Given the description of an element on the screen output the (x, y) to click on. 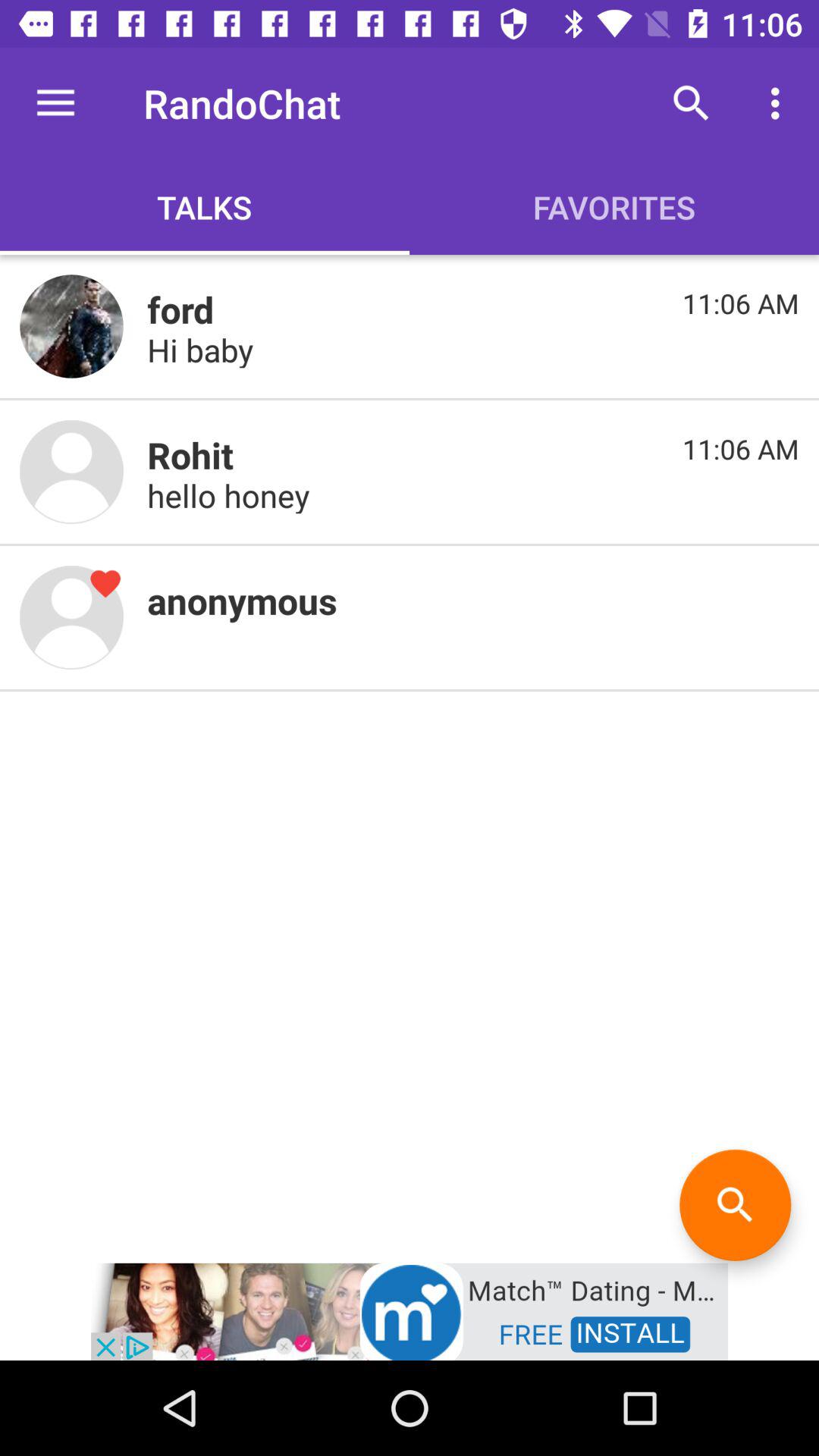
open profile image (71, 326)
